Given the description of an element on the screen output the (x, y) to click on. 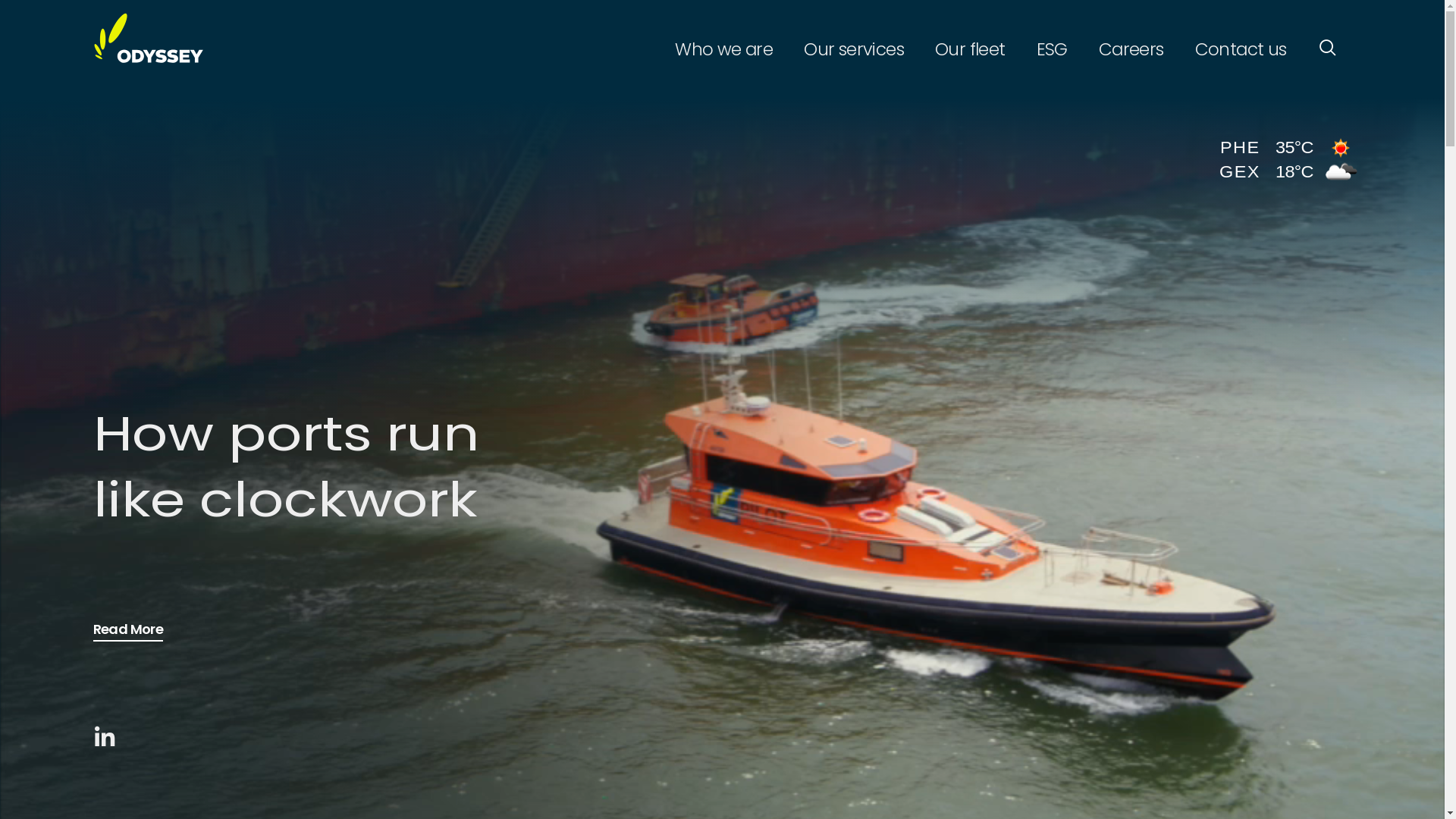
Read More Element type: text (139, 629)
Careers Element type: text (1135, 48)
ESG Element type: text (1056, 48)
Contact us Element type: text (1240, 48)
Who we are Element type: text (727, 48)
Our services Element type: text (857, 48)
Our fleet Element type: text (974, 48)
